Given the description of an element on the screen output the (x, y) to click on. 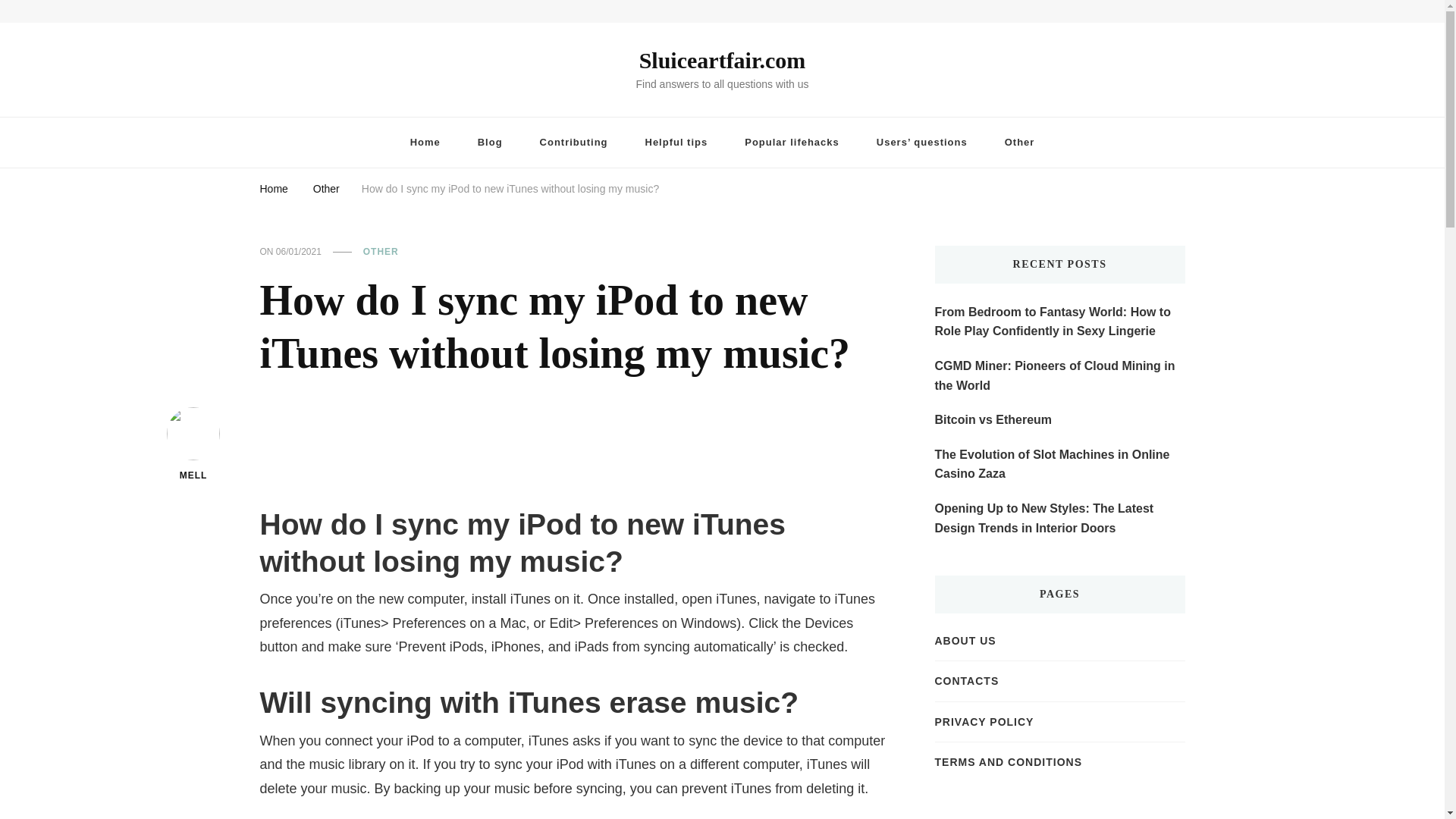
Contributing (573, 142)
OTHER (380, 252)
PRIVACY POLICY (983, 721)
Bitcoin vs Ethereum (992, 419)
CONTACTS (966, 680)
Blog (490, 142)
CGMD Miner: Pioneers of Cloud Mining in the World (1059, 375)
Sluiceartfair.com (722, 59)
The Evolution of Slot Machines in Online Casino Zaza (1059, 464)
